Given the description of an element on the screen output the (x, y) to click on. 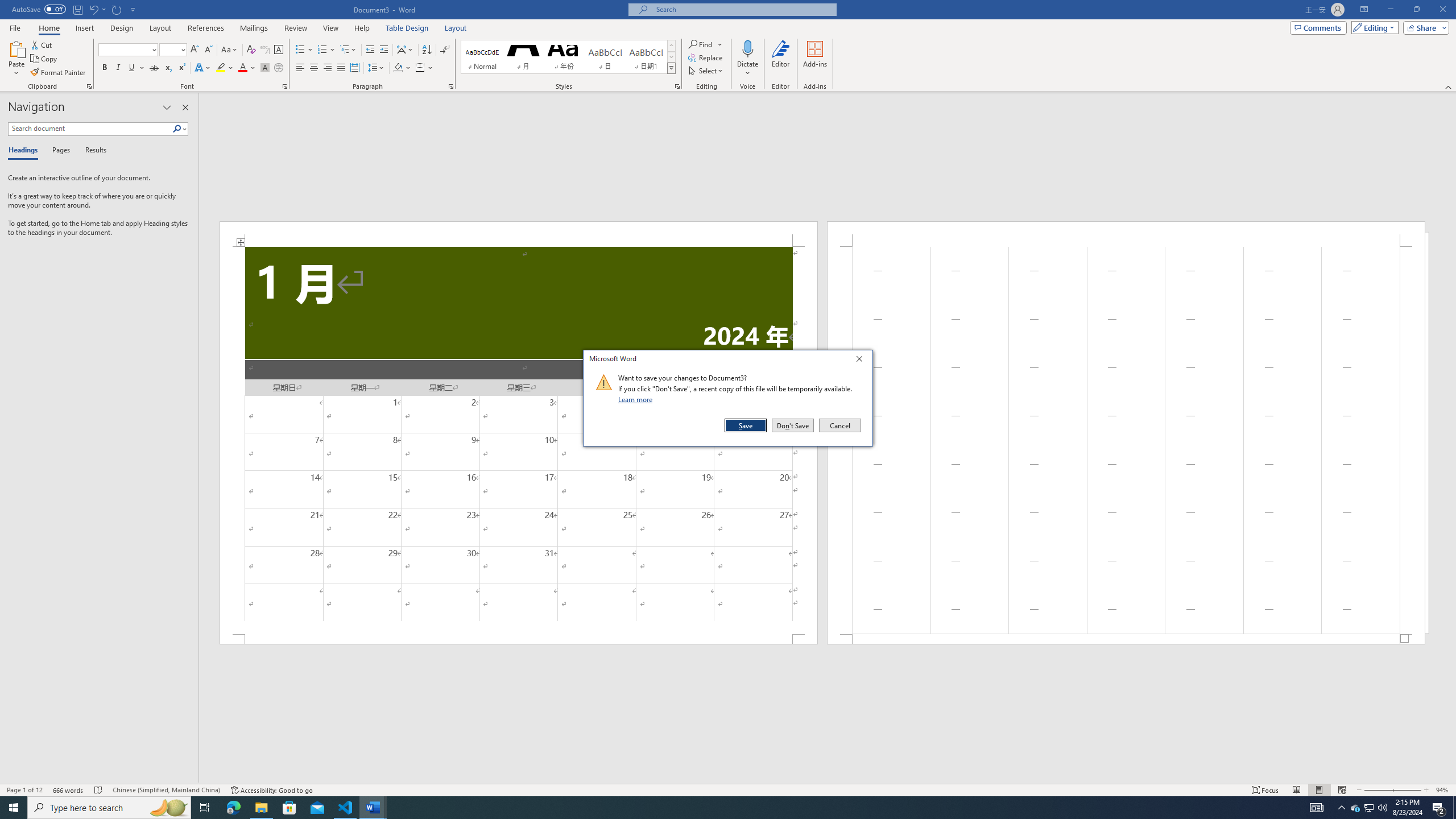
Copy (45, 58)
Cancel (839, 425)
Align Right (327, 67)
Subscript (167, 67)
Grow Font (1368, 807)
AutomationID: 4105 (193, 49)
Start (1316, 807)
Action Center, 2 new notifications (13, 807)
